Given the description of an element on the screen output the (x, y) to click on. 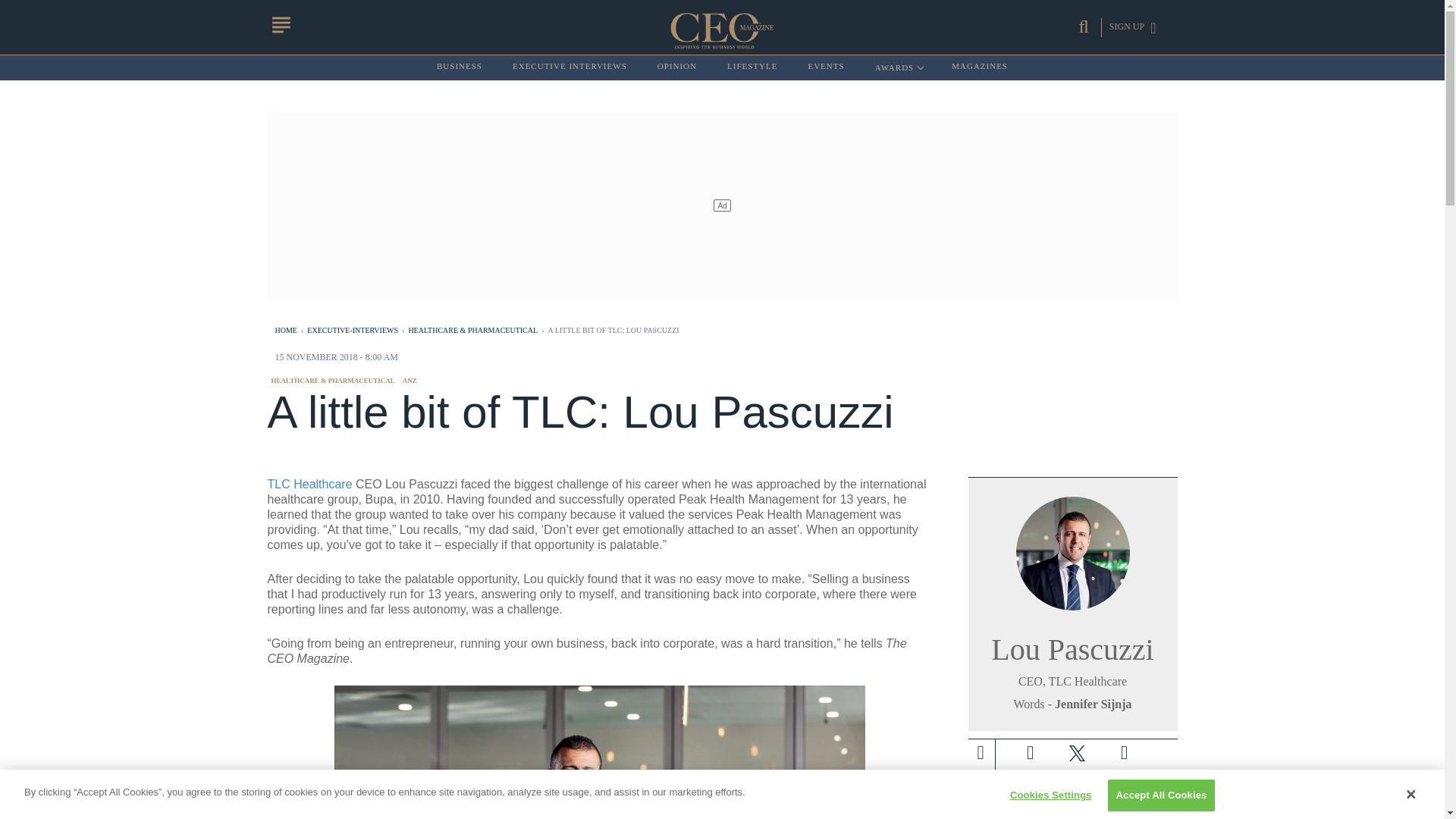
Sign-up (991, 787)
Opinion (677, 66)
TLC Healthcare (309, 483)
EVENTS (826, 66)
Executive Interviews (569, 66)
Share to Twitter (1076, 752)
EXECUTIVE INTERVIEWS (569, 66)
MAGAZINES (979, 66)
ANZ (409, 380)
ANZ (409, 380)
Skip to content (898, 67)
Share to Linkedin (751, 66)
Share to Facebook (1123, 752)
